Given the description of an element on the screen output the (x, y) to click on. 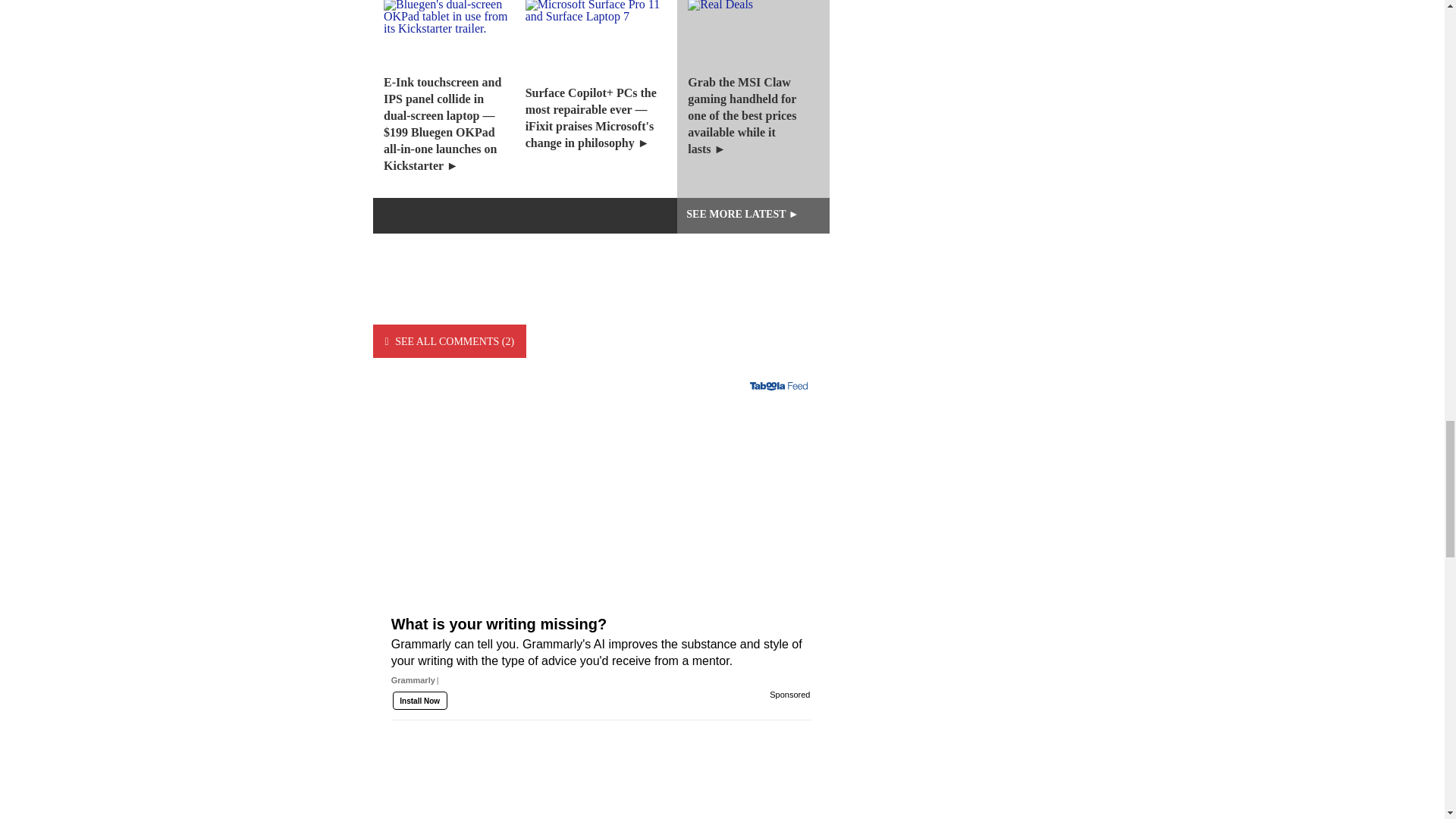
What is your writing missing? (600, 661)
What is your writing missing? (600, 509)
